Given the description of an element on the screen output the (x, y) to click on. 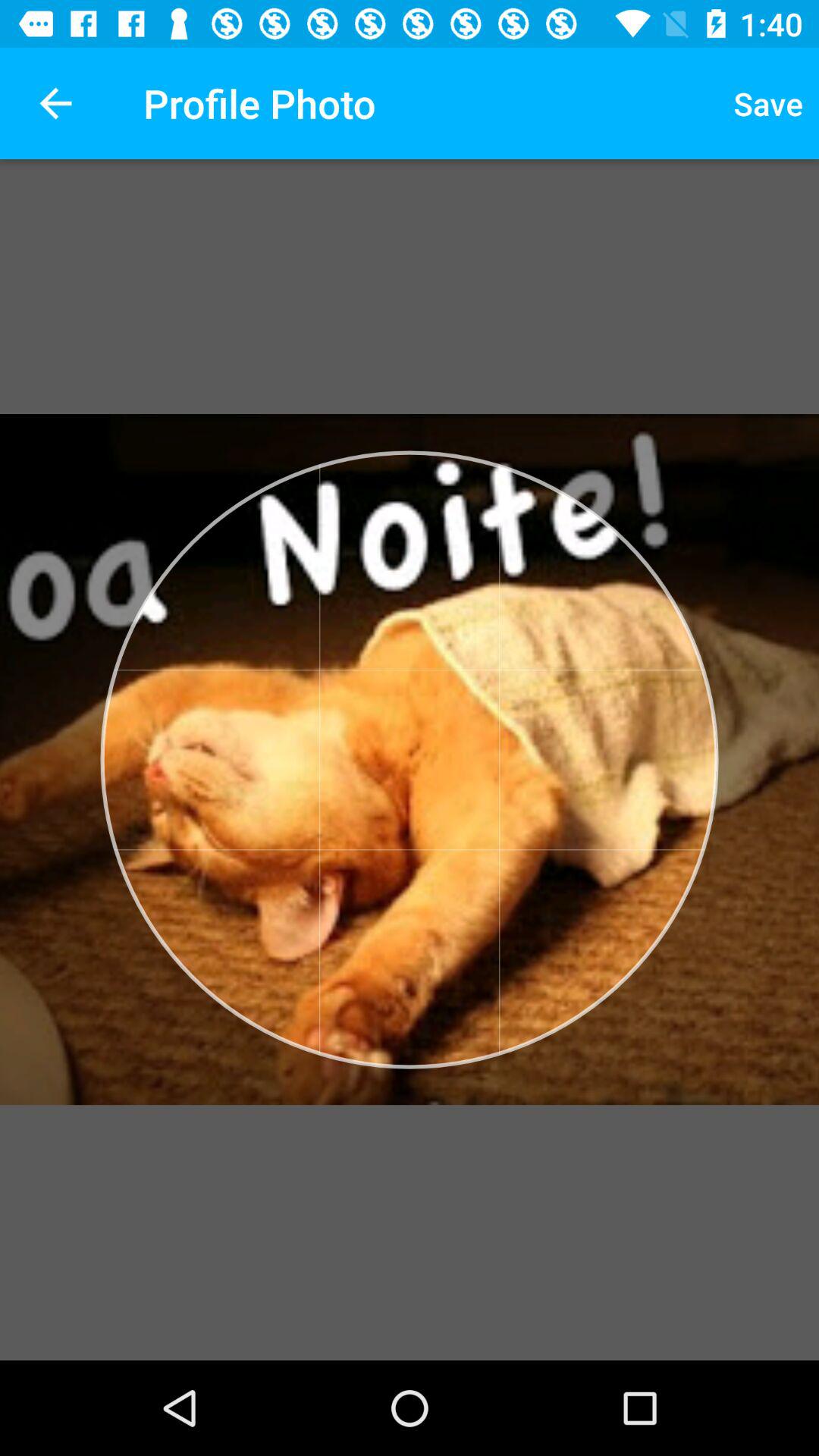
choose item next to profile photo icon (768, 103)
